Given the description of an element on the screen output the (x, y) to click on. 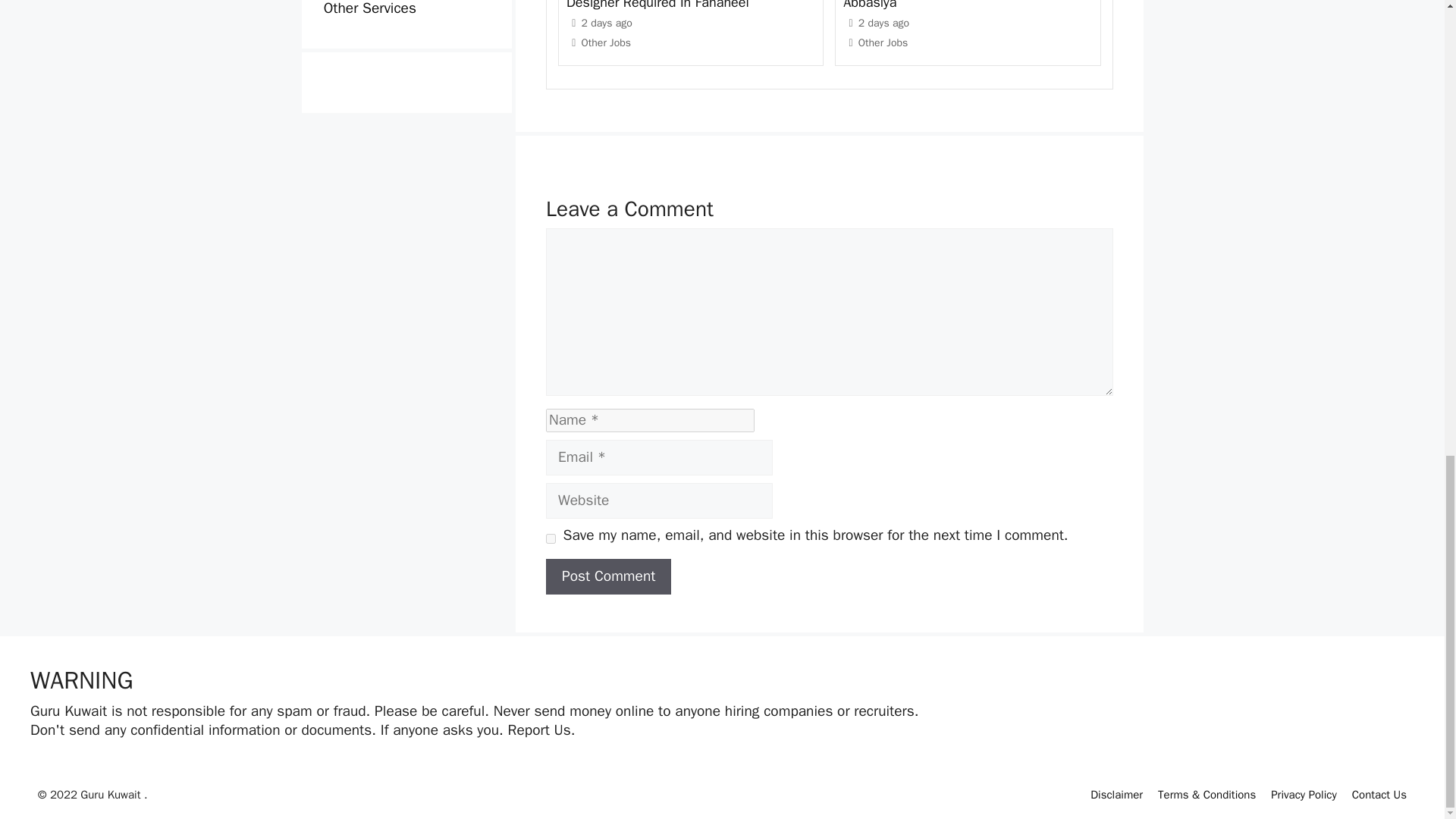
Other Jobs (605, 42)
Post Comment (608, 576)
Scroll back to top (1406, 503)
yes (551, 538)
